Given the description of an element on the screen output the (x, y) to click on. 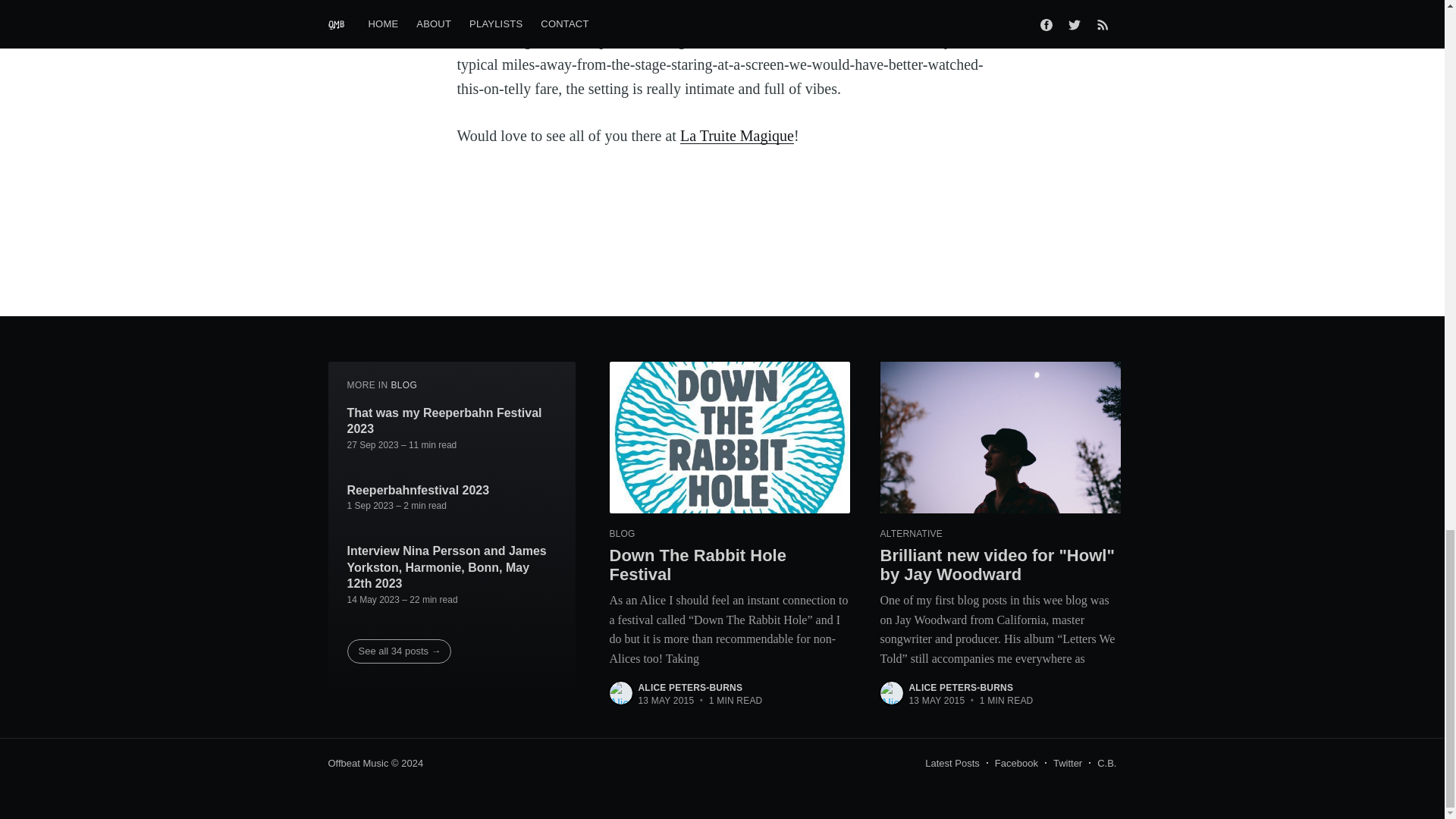
La Truite Magique (736, 135)
C.B. (1106, 763)
ALICE PETERS-BURNS (960, 687)
Latest Posts (951, 763)
Reeperbahnfestival 2023 (418, 490)
Facebook (1016, 763)
ALICE PETERS-BURNS (690, 687)
Twitter (1066, 763)
Offbeat Music (357, 763)
BLOG (403, 385)
That was my Reeperbahn Festival 2023 (451, 420)
